Given the description of an element on the screen output the (x, y) to click on. 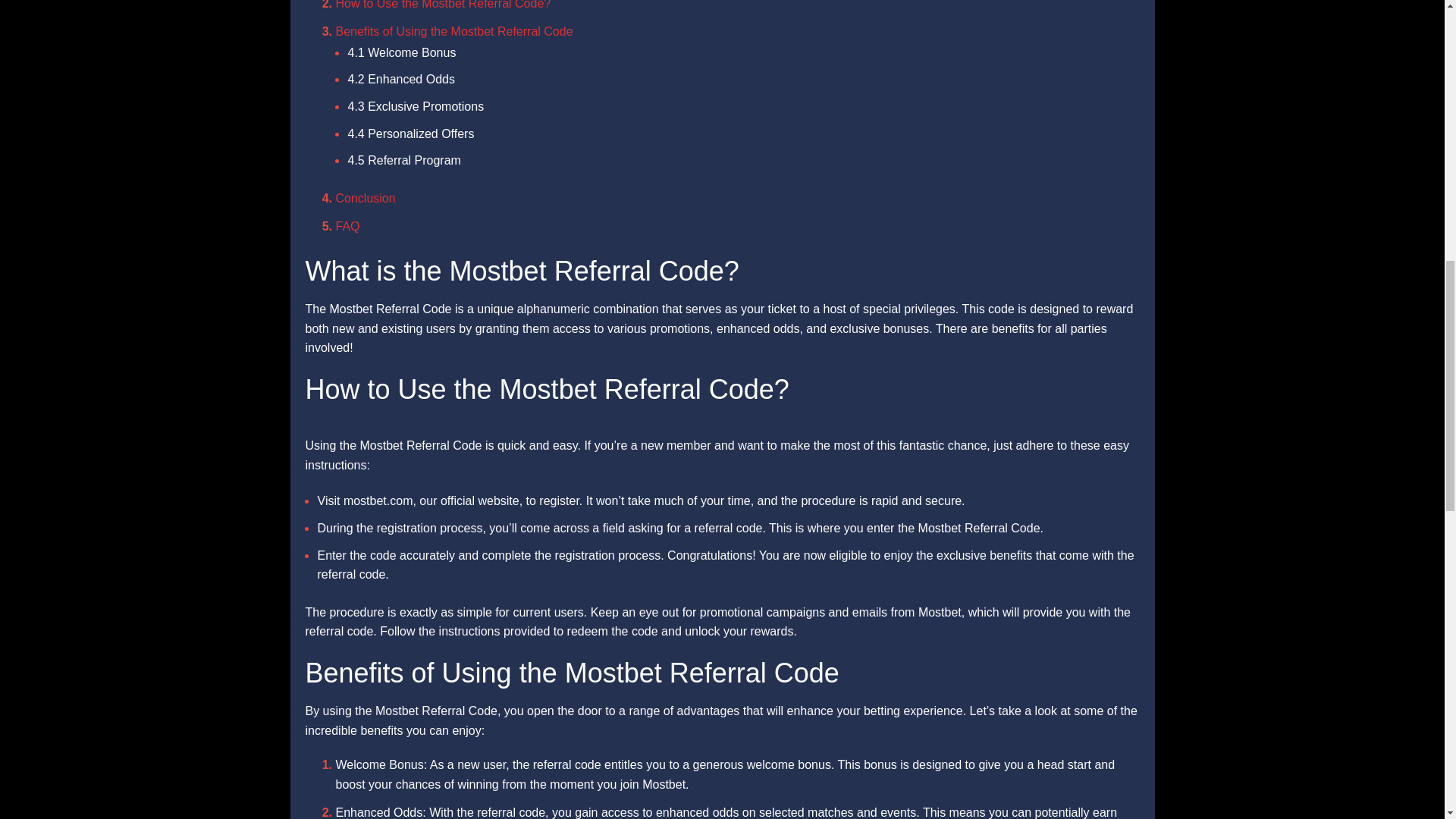
Conclusion (364, 197)
How to Use the Mostbet Referral Code? (442, 4)
Benefits of Using the Mostbet Referral Code (453, 31)
